Given the description of an element on the screen output the (x, y) to click on. 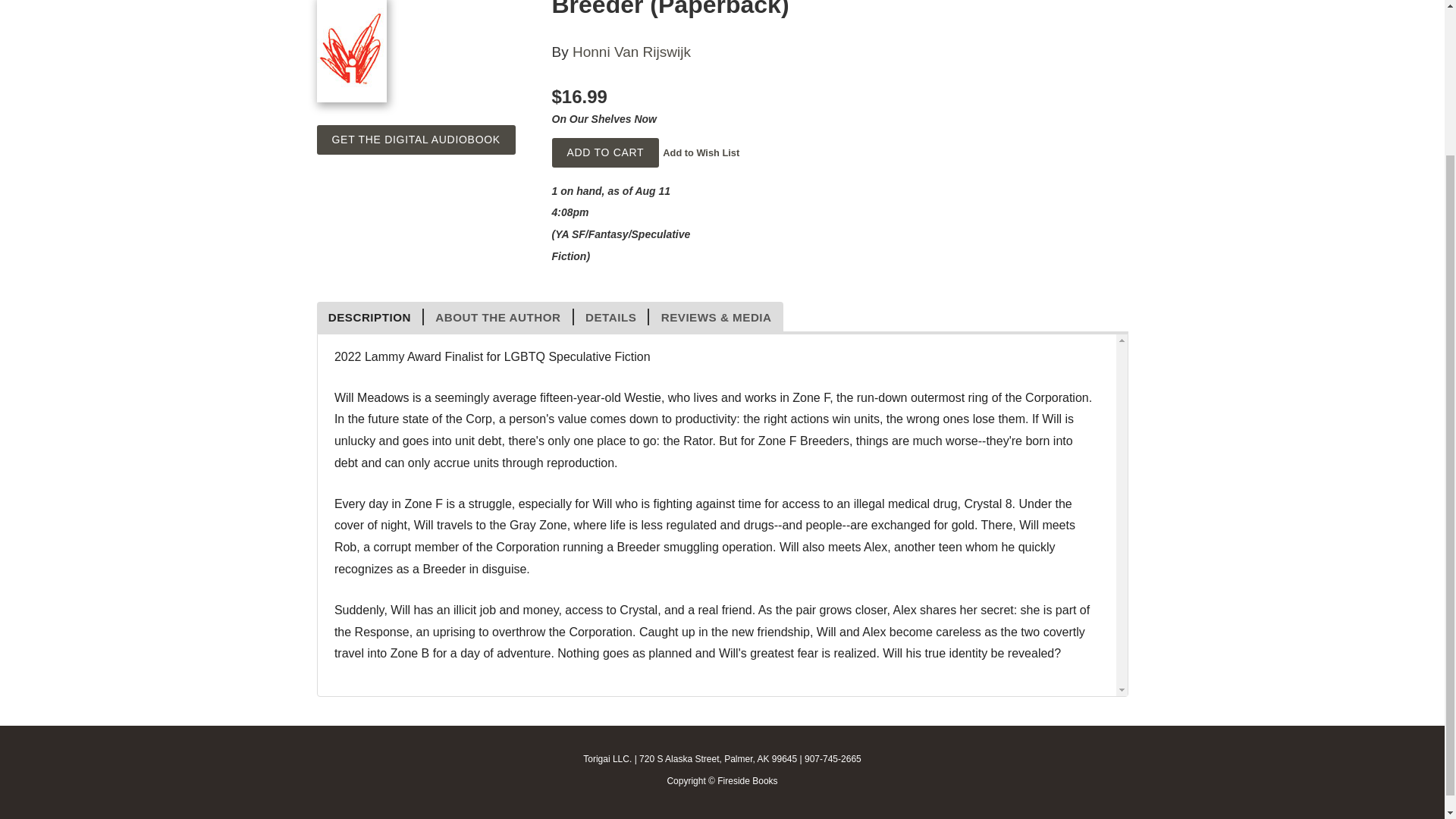
Add to Cart (605, 152)
Get the Digital Audiobook (416, 139)
Get the Digital Audiobook (416, 139)
Honni Van Rijswijk (631, 51)
Add to Cart (605, 152)
